Given the description of an element on the screen output the (x, y) to click on. 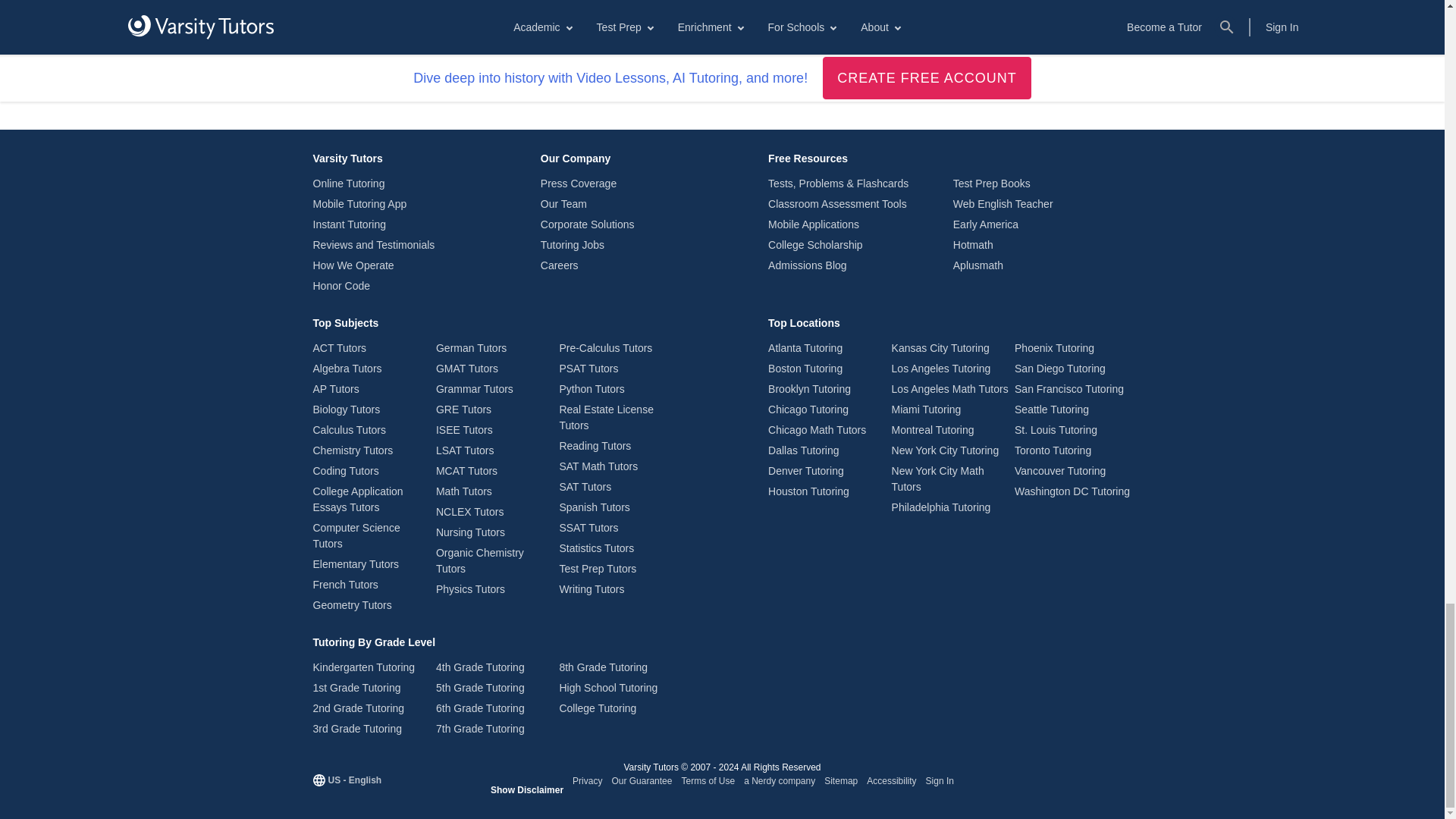
Advertisement (724, 72)
